Given the description of an element on the screen output the (x, y) to click on. 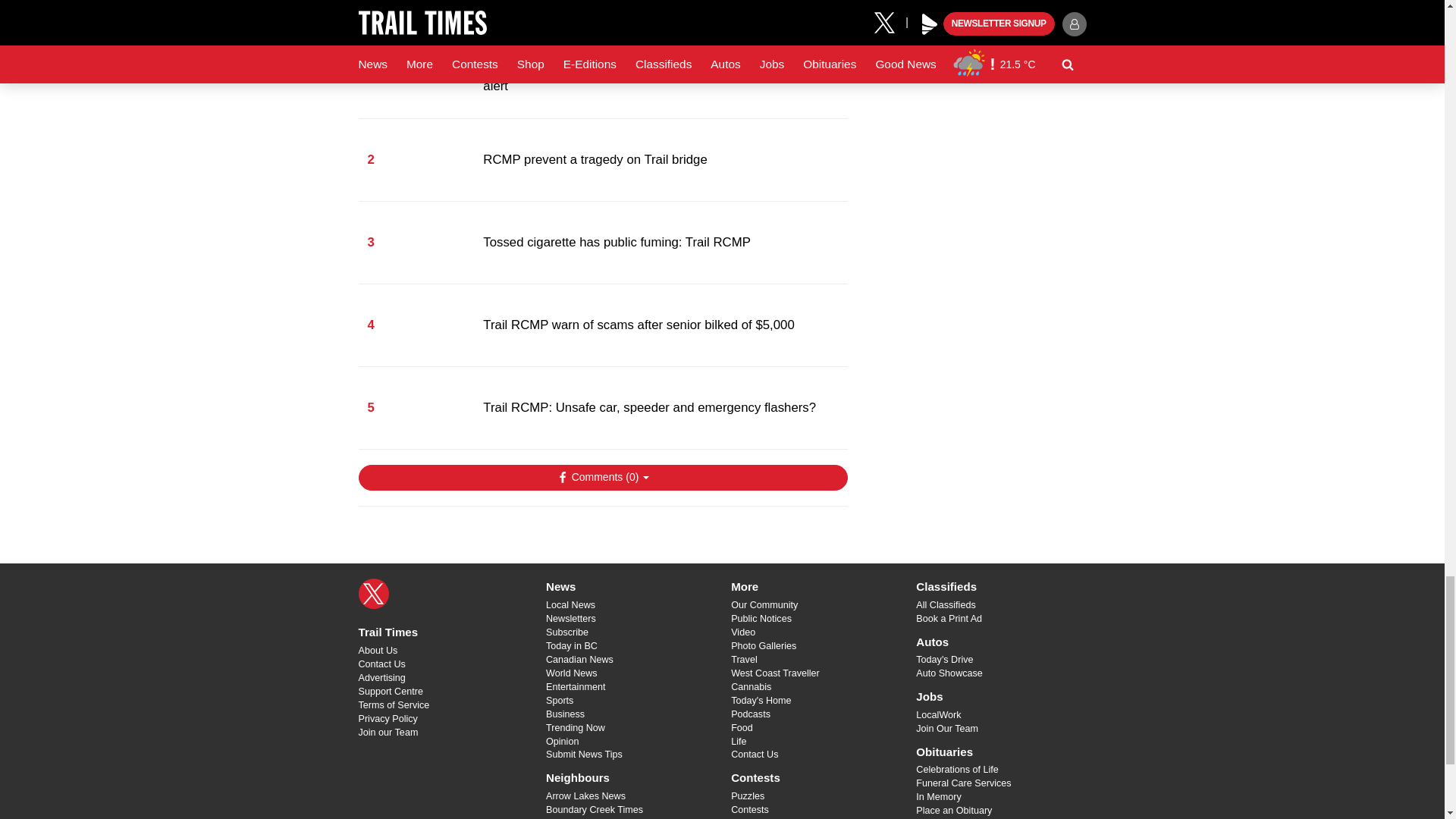
X (373, 593)
Show Comments (602, 477)
